Given the description of an element on the screen output the (x, y) to click on. 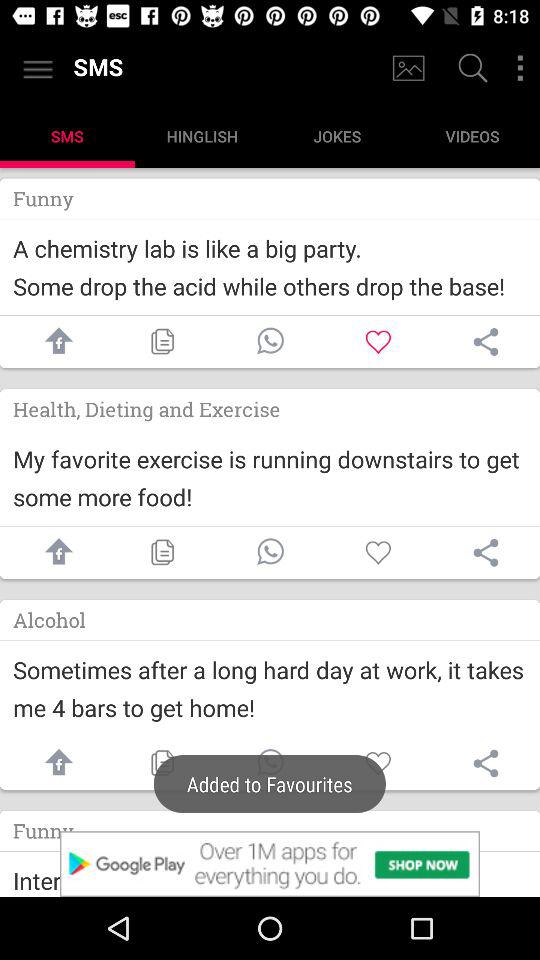
click to message (270, 763)
